Given the description of an element on the screen output the (x, y) to click on. 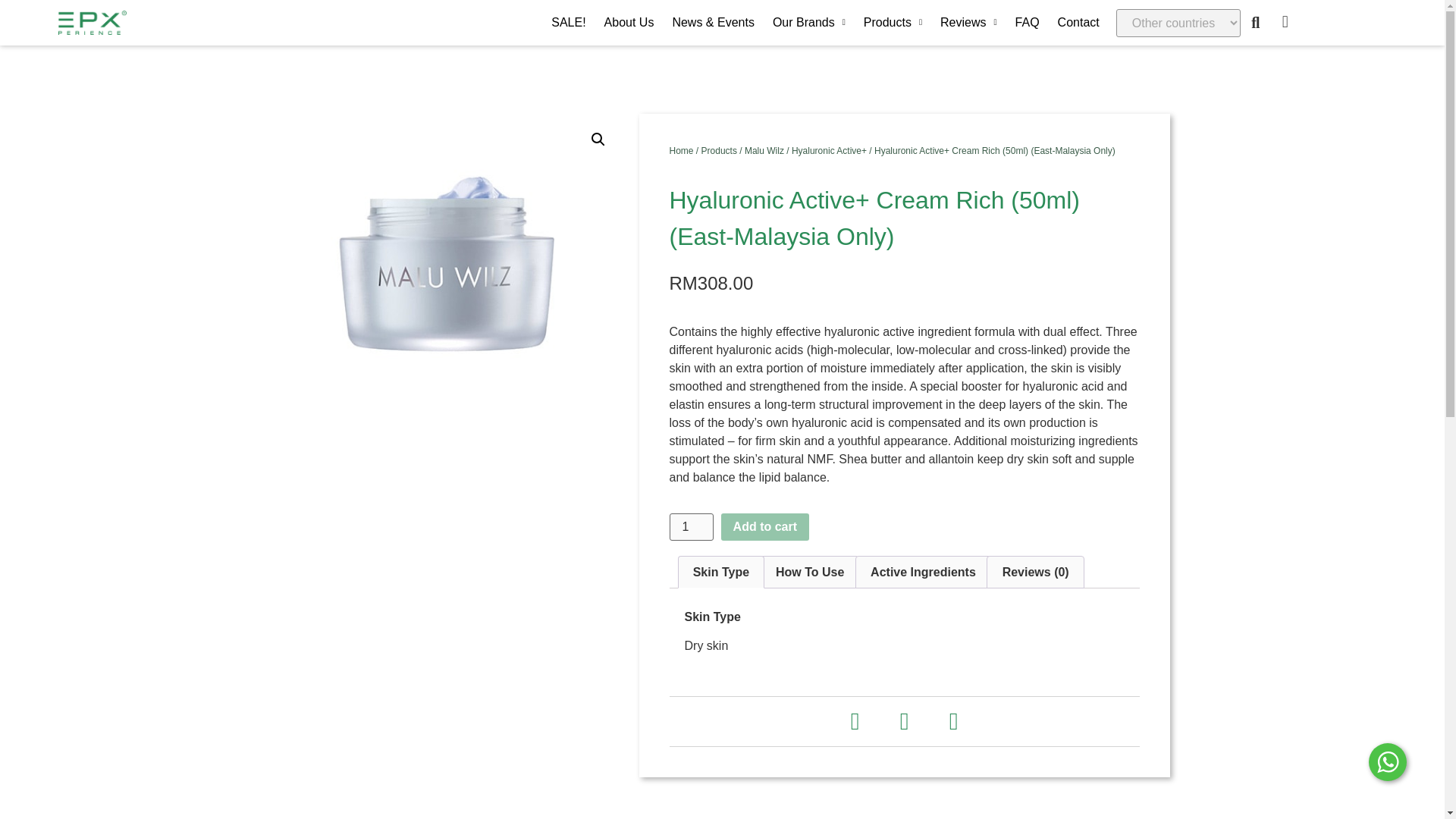
Our Brands (808, 22)
About Us (629, 22)
cream (449, 287)
1 (690, 526)
SALE! (567, 22)
Products (892, 22)
